Given the description of an element on the screen output the (x, y) to click on. 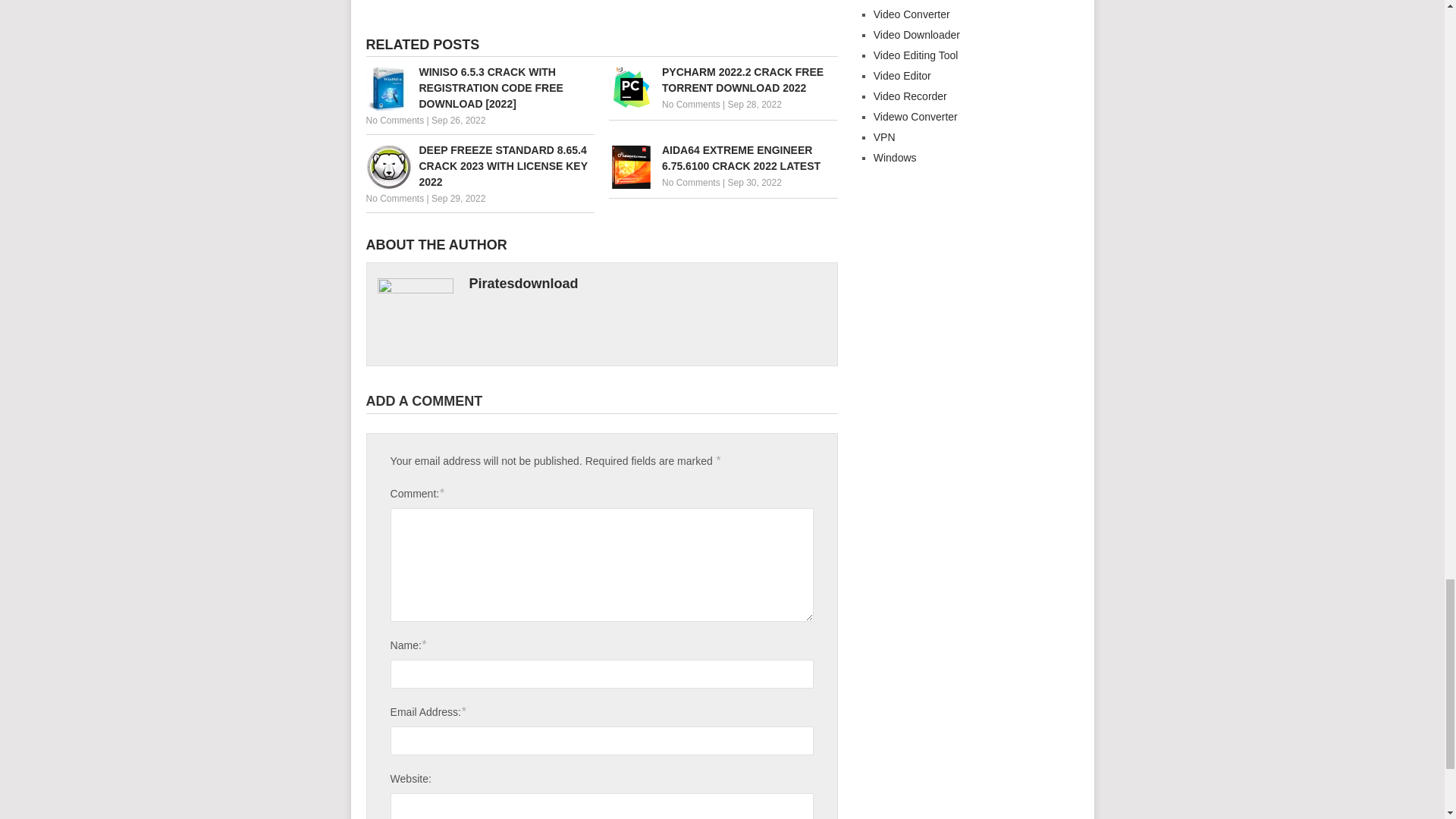
No Comments (394, 198)
AIDA64 EXTREME ENGINEER 6.75.6100 CRACK 2022 LATEST (723, 158)
Pycharm 2022.2 Crack Free Torrent Download 2022 (723, 80)
Deep Freeze Standard 8.65.4 Crack 2023 With License Key 2022 (479, 166)
No Comments (691, 104)
No Comments (394, 120)
PYCHARM 2022.2 CRACK FREE TORRENT DOWNLOAD 2022 (723, 80)
AIDA64 Extreme Engineer 6.75.6100 Crack 2022 Latest (723, 158)
No Comments (691, 182)
DEEP FREEZE STANDARD 8.65.4 CRACK 2023 WITH LICENSE KEY 2022 (479, 166)
